Given the description of an element on the screen output the (x, y) to click on. 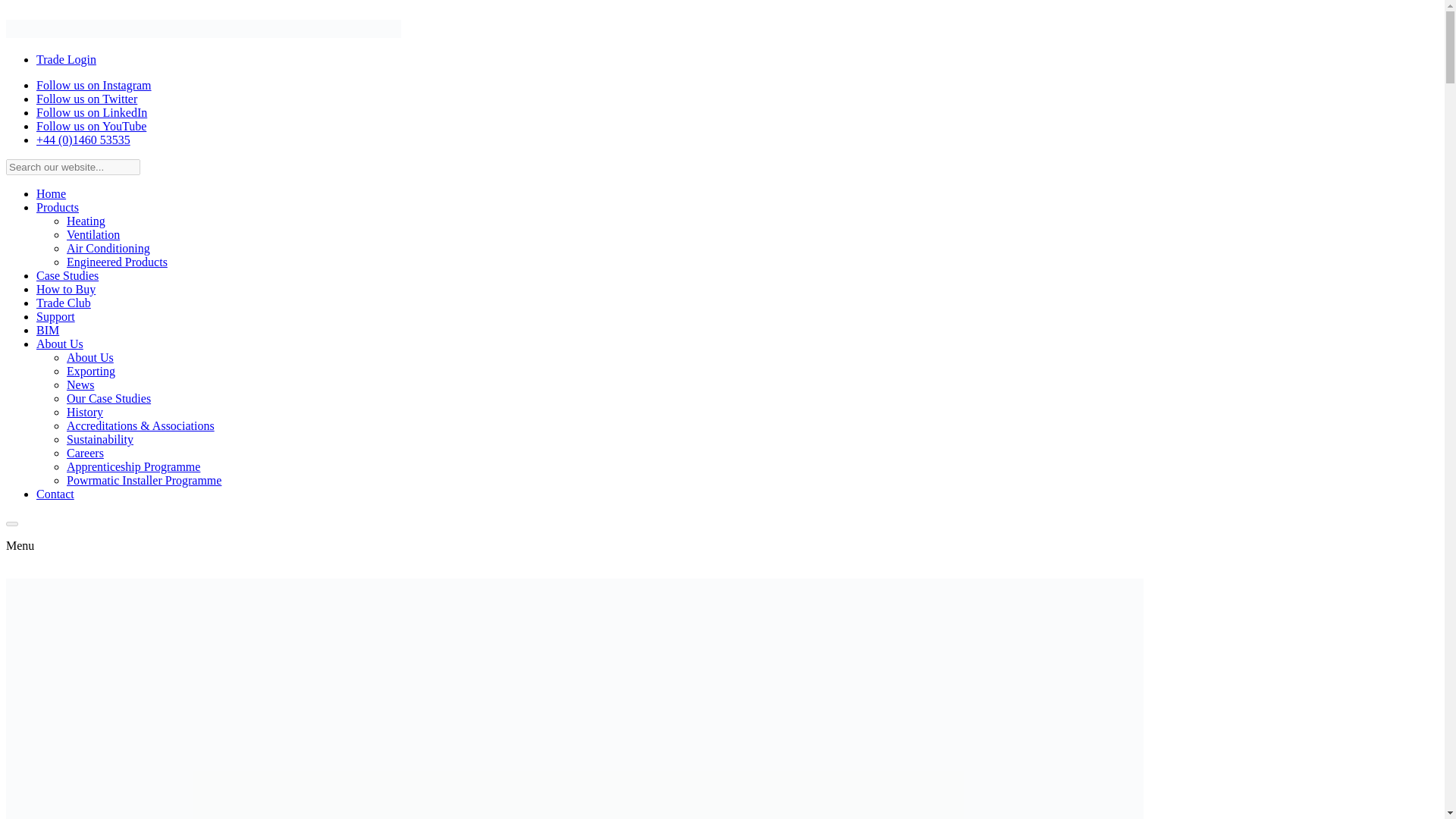
About Us (59, 343)
Follow us on LinkedIn (91, 112)
Powrmatic Installer Programme (143, 480)
Trade Club (63, 302)
Powrmatic (203, 33)
Ventilation (92, 234)
How to Buy (66, 288)
About Us (89, 357)
Case Studies (67, 275)
Powrmatic (203, 28)
